Given the description of an element on the screen output the (x, y) to click on. 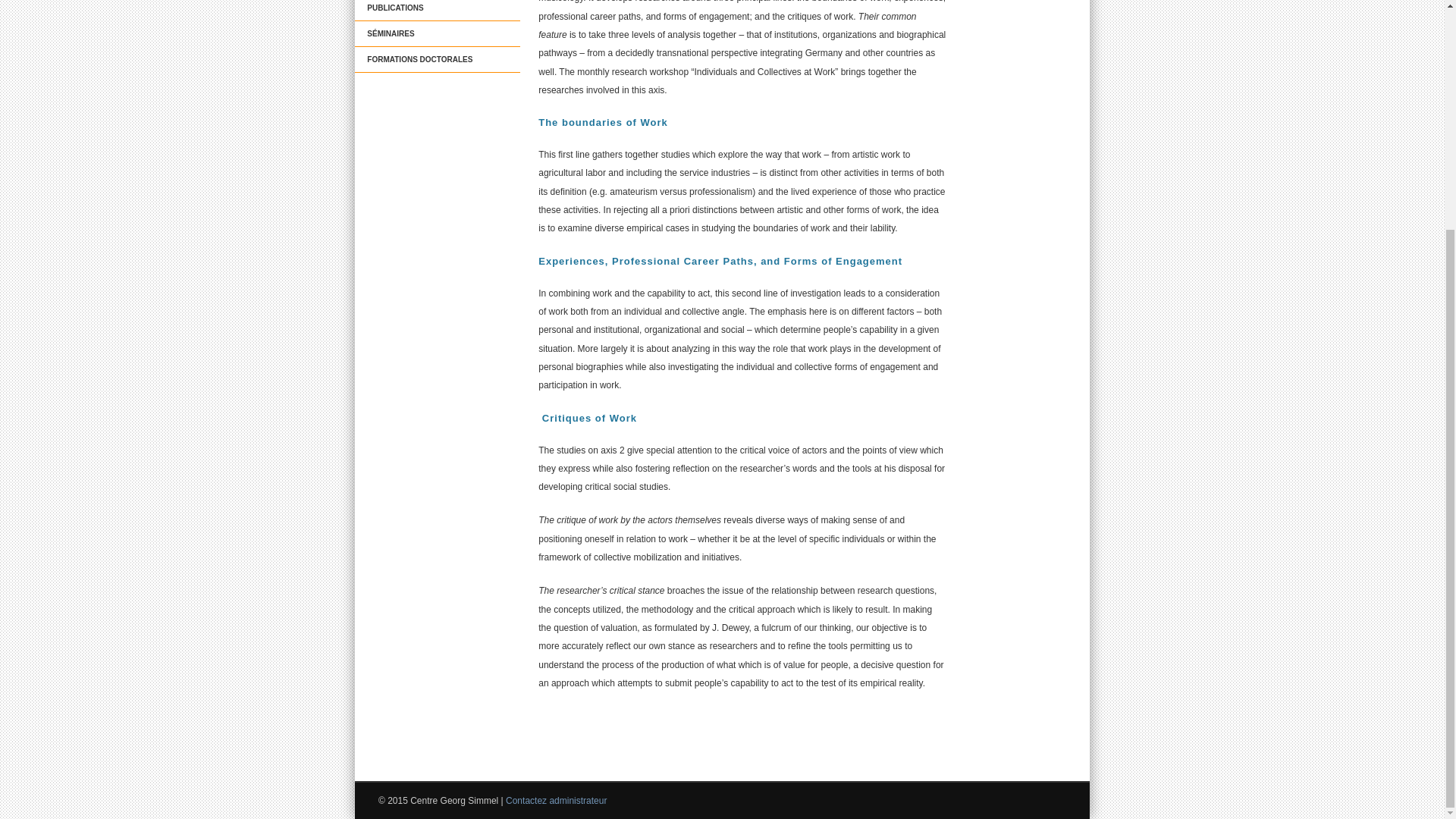
FORMATIONS DOCTORALES (437, 59)
PUBLICATIONS (437, 10)
Contactez administrateur (556, 800)
